Given the description of an element on the screen output the (x, y) to click on. 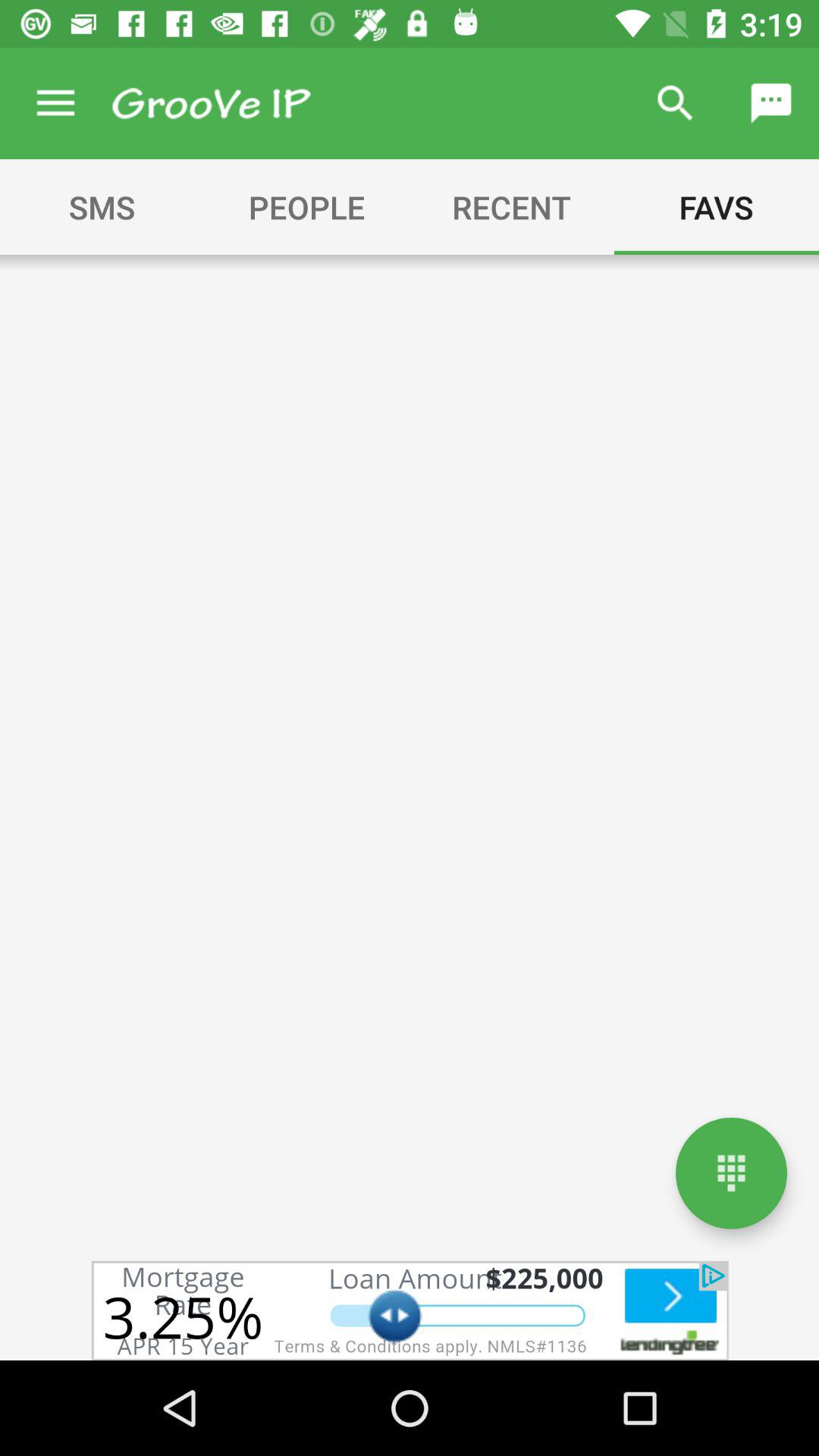
menu/ options (731, 1173)
